Given the description of an element on the screen output the (x, y) to click on. 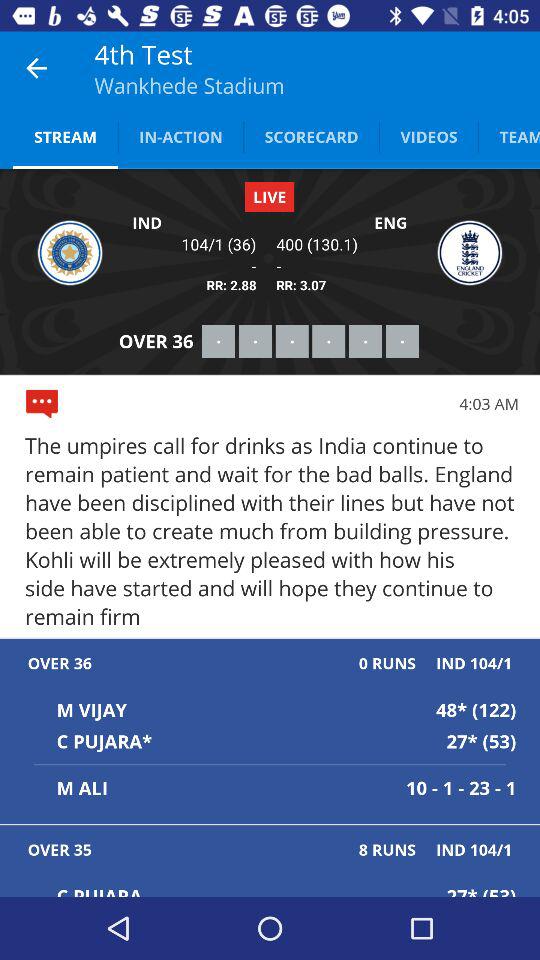
turn on the item to the right of the videos icon (509, 136)
